Given the description of an element on the screen output the (x, y) to click on. 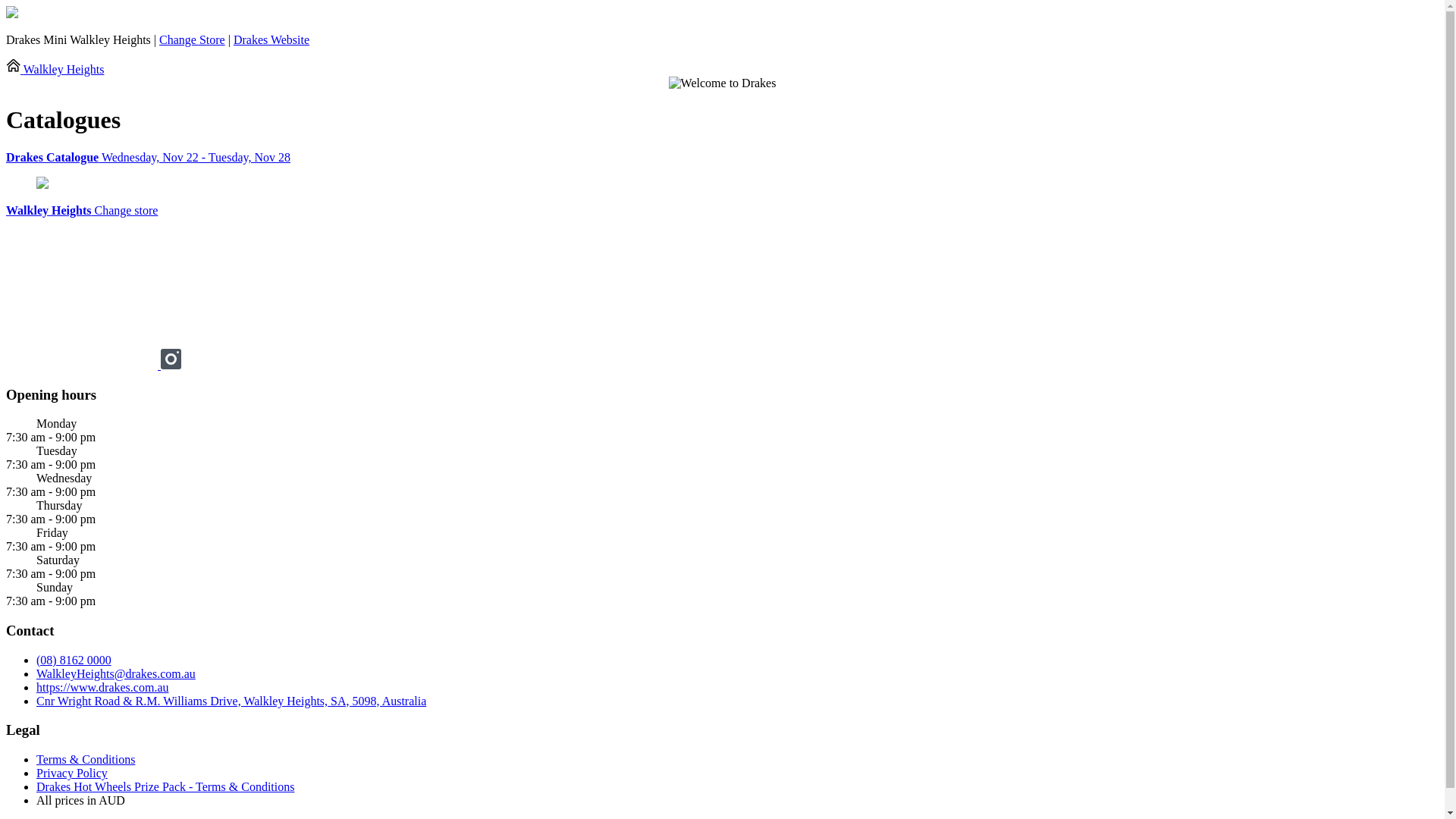
Change Store Element type: text (192, 39)
Facebook Element type: hover (83, 364)
Terms & Conditions Element type: text (85, 759)
(08) 8162 0000 Element type: text (73, 659)
Instagram drakessupermarkets Element type: hover (170, 364)
Drakes Hot Wheels Prize Pack - Terms & Conditions Element type: text (165, 786)
Privacy Policy Element type: text (71, 772)
https://www.drakes.com.au Element type: text (102, 686)
Drakes Catalogue Wednesday, Nov 22 - Tuesday, Nov 28 Element type: text (722, 156)
Drakes Website Element type: text (271, 39)
Walkley Heights Change store Element type: text (81, 209)
WalkleyHeights@drakes.com.au Element type: text (115, 673)
Walkley Heights Element type: text (54, 68)
